Given the description of an element on the screen output the (x, y) to click on. 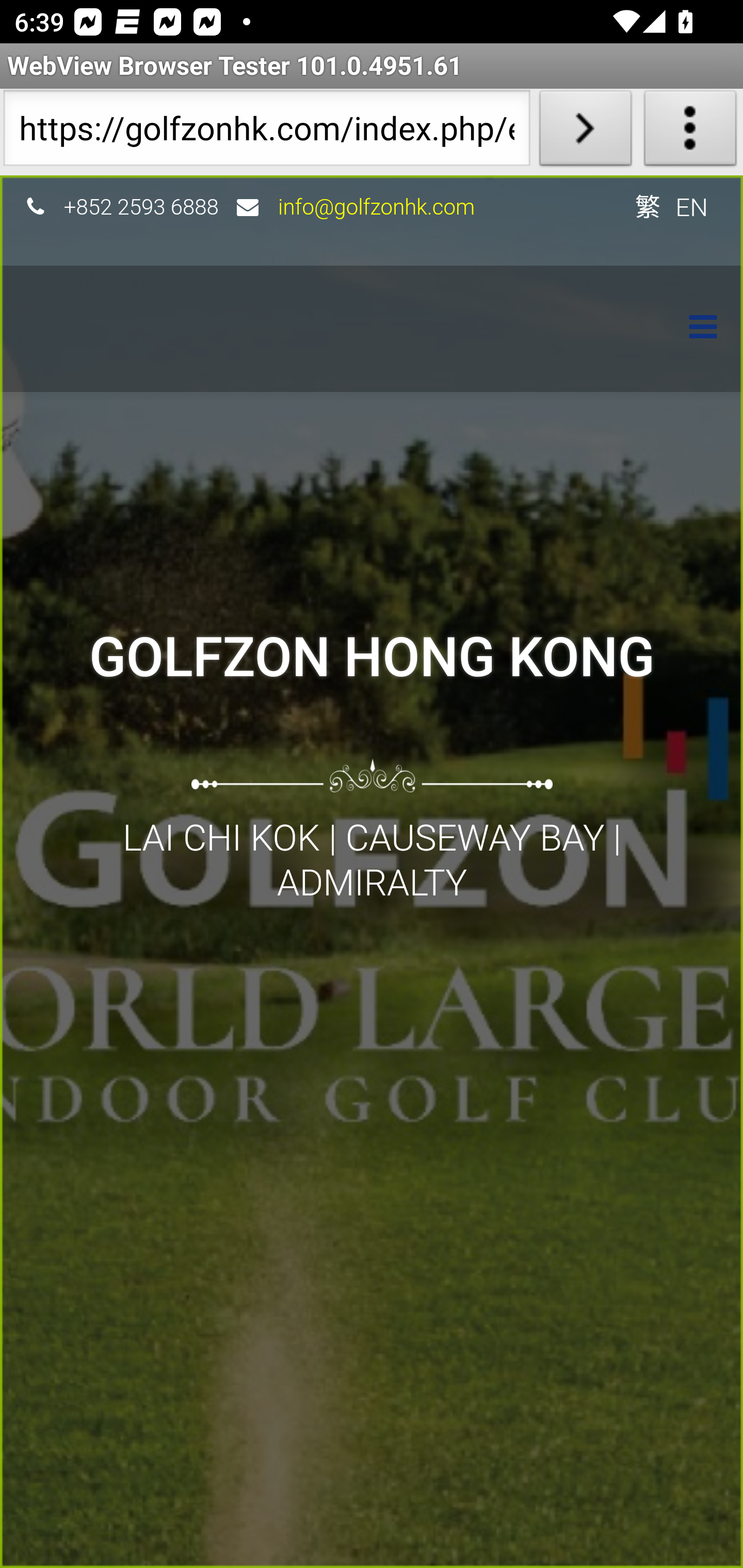
Load URL (585, 132)
About WebView (690, 132)
info@golfzonhk.com (377, 205)
繁 (647, 205)
EN (692, 205)
 (693, 328)
